Given the description of an element on the screen output the (x, y) to click on. 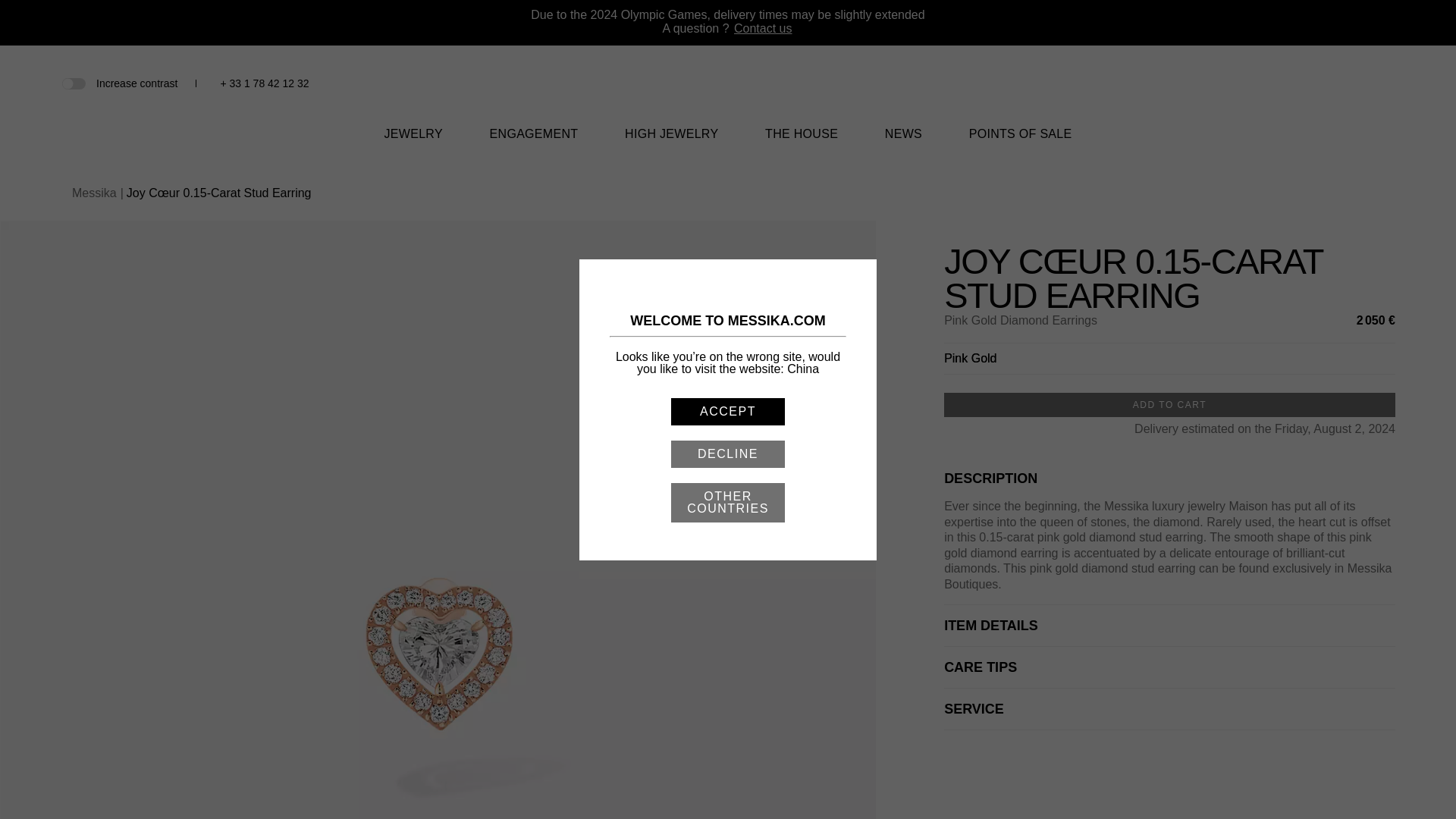
Wishlist (1335, 84)
Shopping Cart (1360, 84)
Opens a widget where you can find more information (1398, 792)
on (73, 82)
Messika (727, 92)
Messika (727, 103)
Wishlist (1335, 83)
Contact us (762, 28)
JEWELRY (413, 142)
Search (1310, 84)
